Given the description of an element on the screen output the (x, y) to click on. 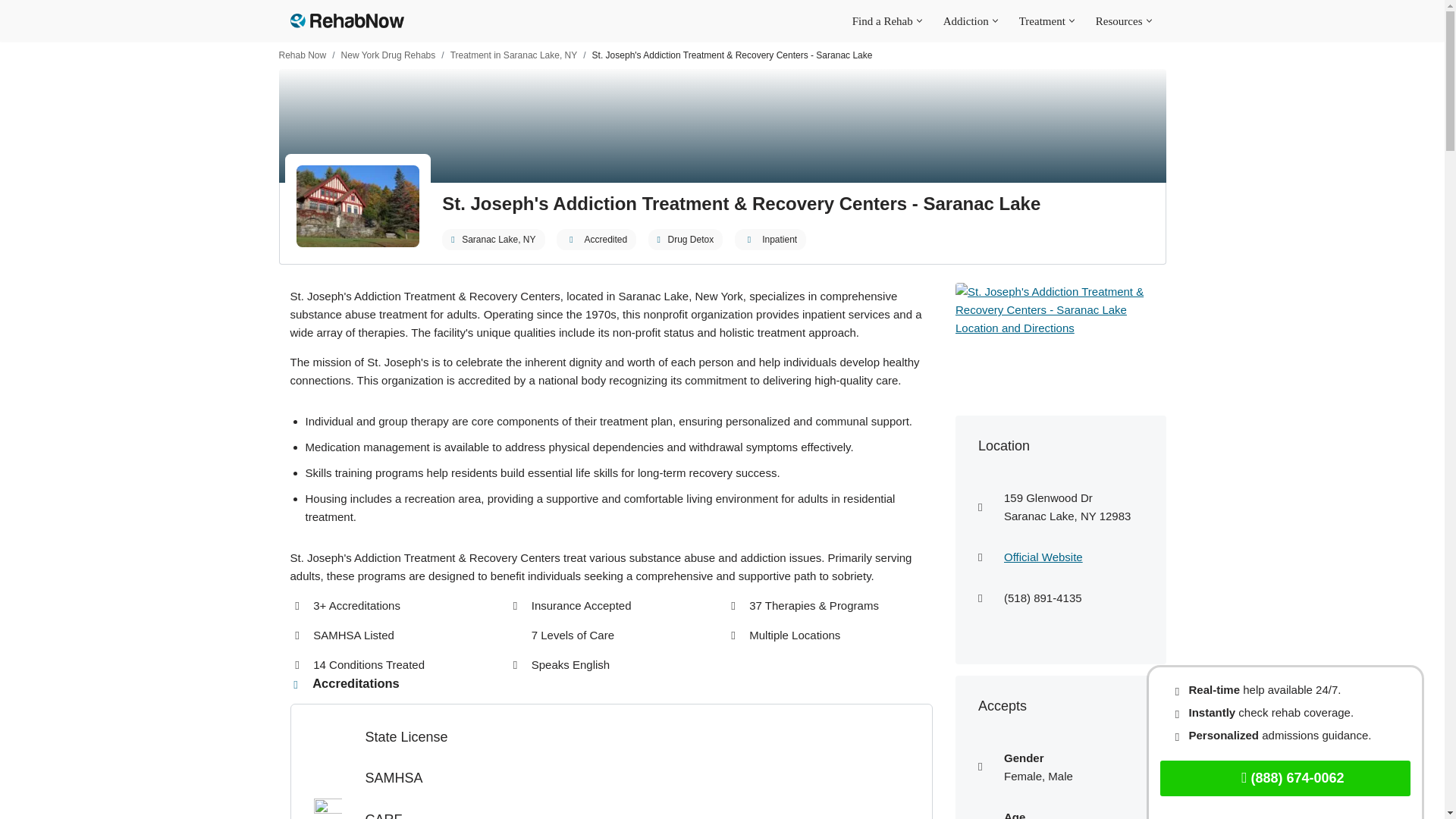
Skip to content (11, 31)
Find a Rehab (881, 20)
